Given the description of an element on the screen output the (x, y) to click on. 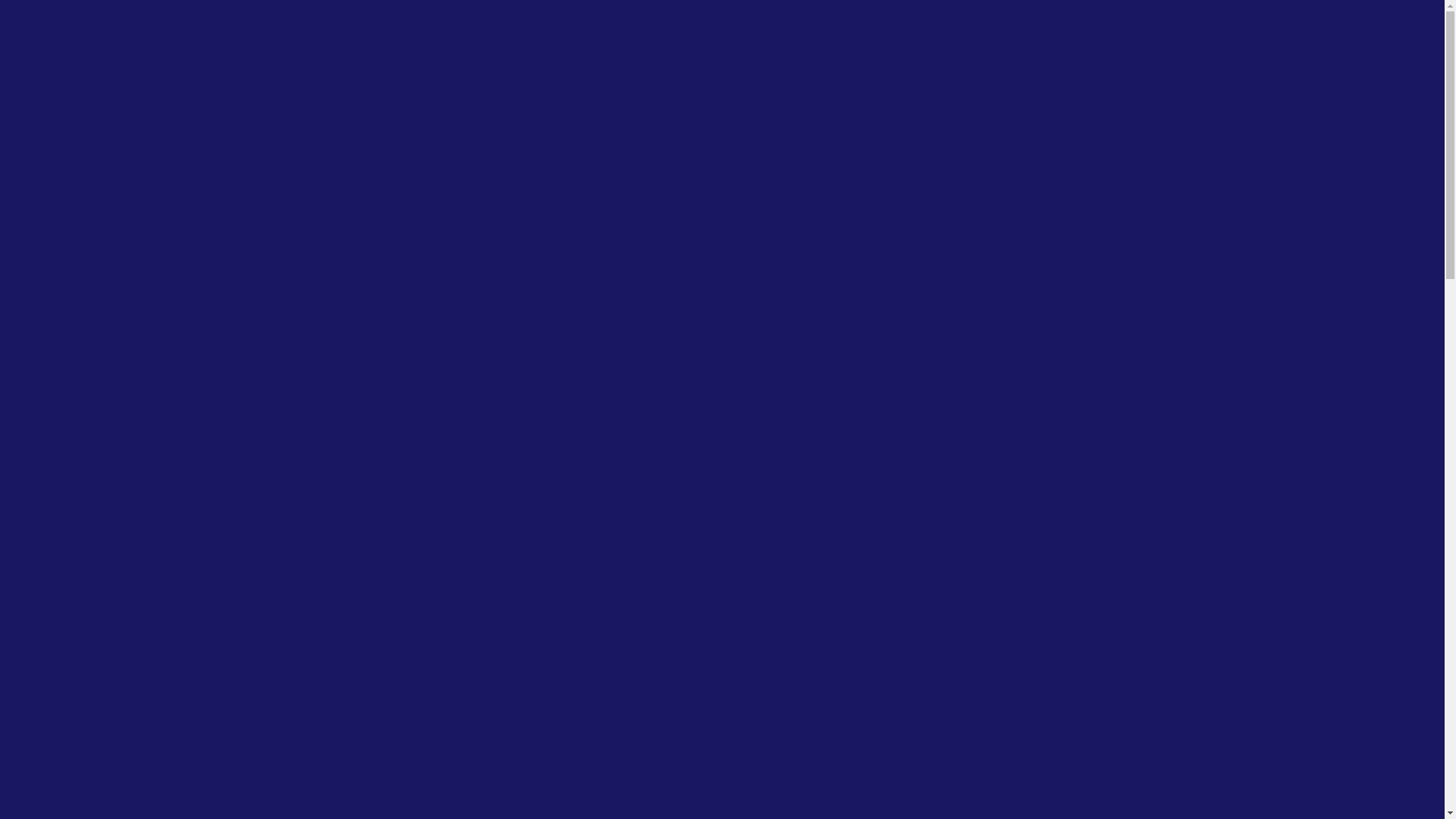
Sign up for our newsletter here for all the latest updates Element type: text (644, 17)
MILK BAR GROUP  Element type: text (721, 81)
About Our Brands Element type: text (1124, 430)
About Our Agency Element type: text (427, 416)
